Given the description of an element on the screen output the (x, y) to click on. 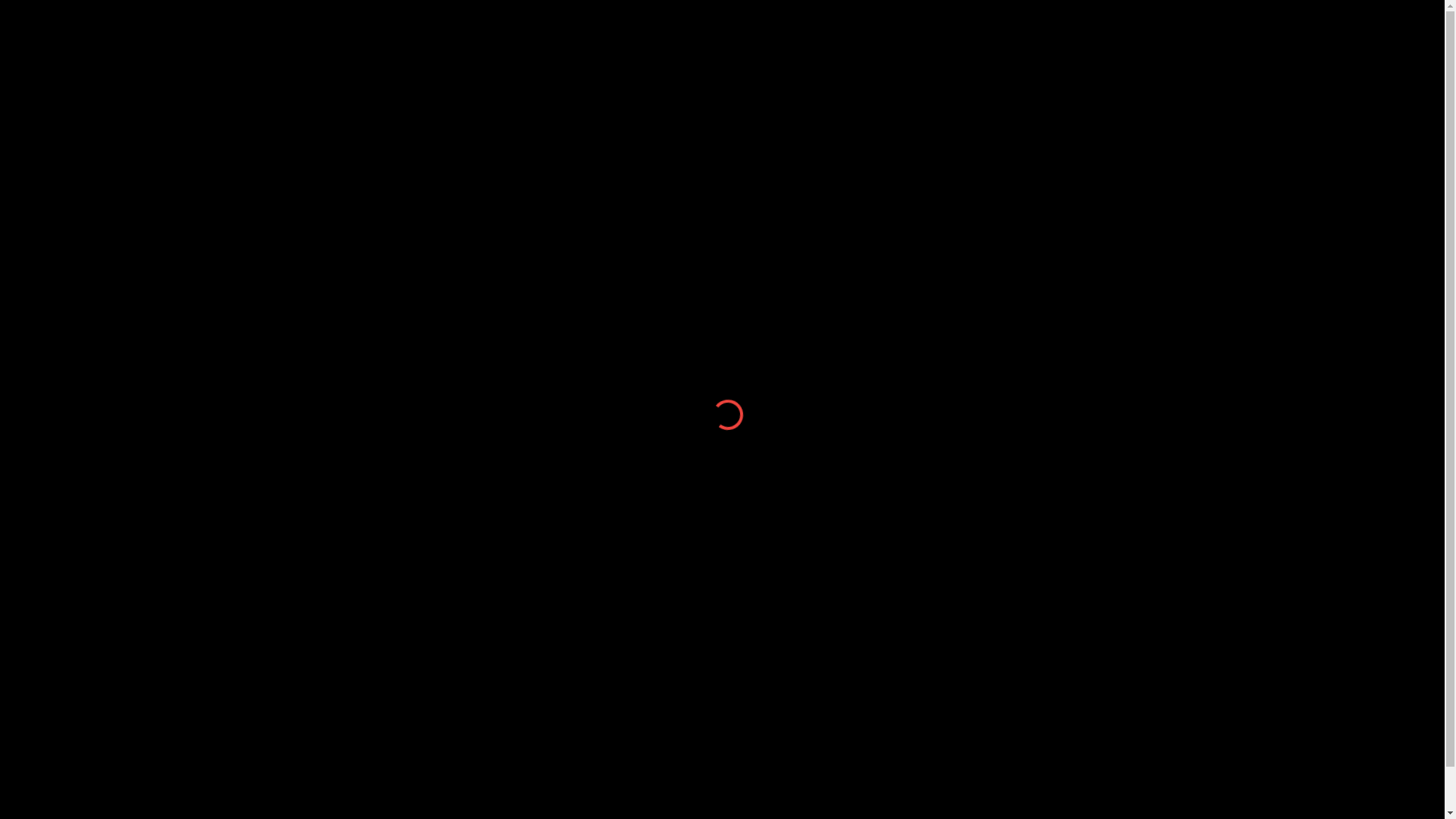
Gratis Sex Dating Element type: text (966, 448)
gratis sex in luzern Element type: text (969, 376)
Geile Sexfeesten NL Element type: text (974, 558)
Sextreff Neubrandenburg Element type: text (986, 612)
Plancul Bienne Element type: text (959, 412)
Sextreff schweiz Element type: text (963, 230)
huren luzern Element type: text (952, 303)
kontaktanzeigen schweiz Element type: text (986, 266)
Baise salope coquine Element type: text (976, 467)
Femme Cherche Sexe Element type: text (979, 485)
Sex Fribourg Element type: text (953, 394)
CONFISERIEPOYET.CH Element type: text (715, 71)
sex kontakte Element type: text (953, 339)
Escort Brabant Flamant Element type: text (982, 576)
Erotik In Basel Element type: text (958, 630)
oma sex luzern Element type: text (960, 285)
Annonce Erotique Element type: text (967, 430)
Sexgames Element type: text (947, 539)
Transen Bern Element type: text (955, 321)
Annonces Sex Element type: text (958, 503)
Sex Kontakte Schweiz Element type: text (979, 248)
gratis sexkontakt Element type: text (964, 357)
